Given the description of an element on the screen output the (x, y) to click on. 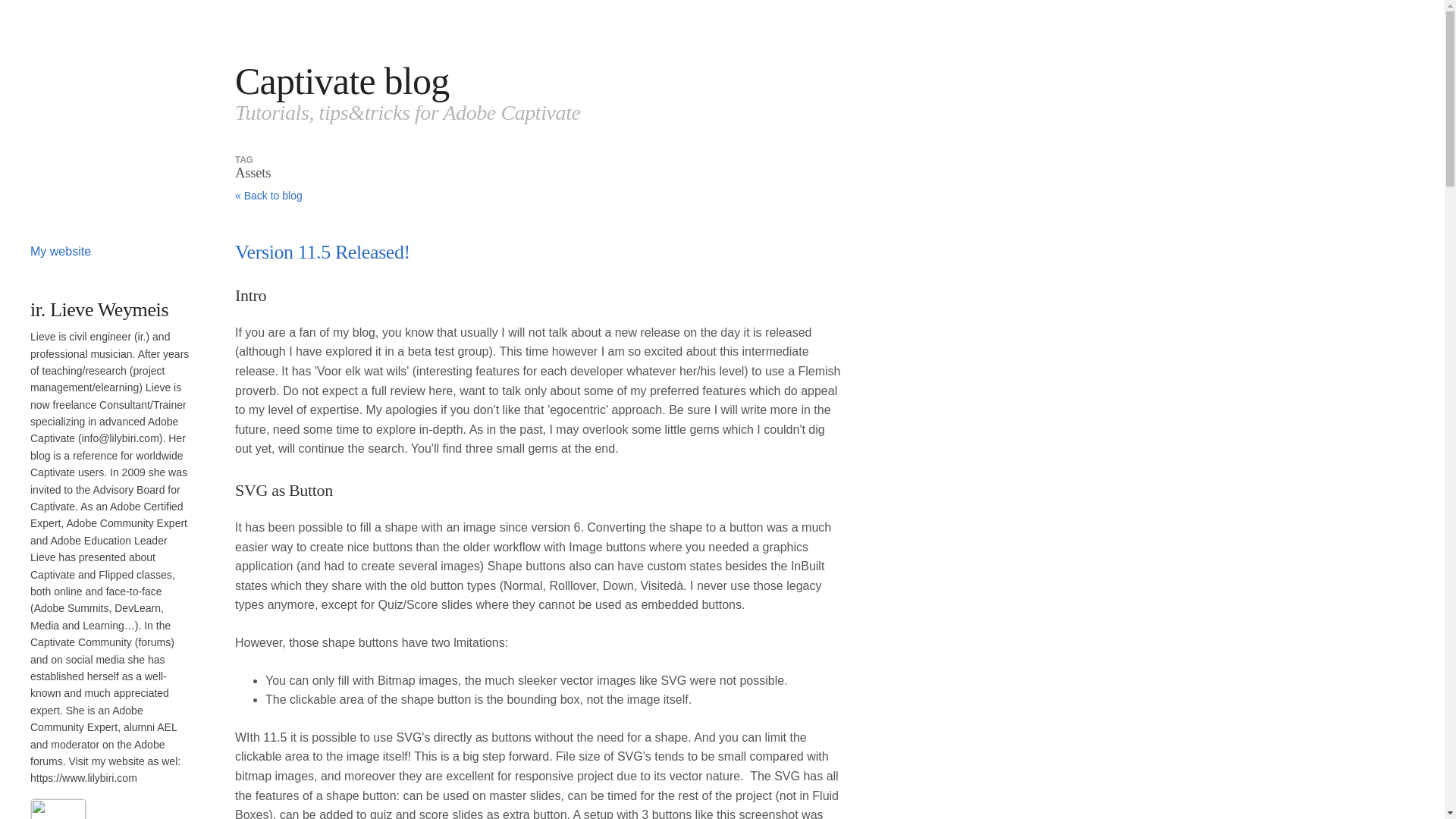
My website (60, 250)
Version 11.5 Released! (322, 251)
Captivate blog (341, 80)
